Given the description of an element on the screen output the (x, y) to click on. 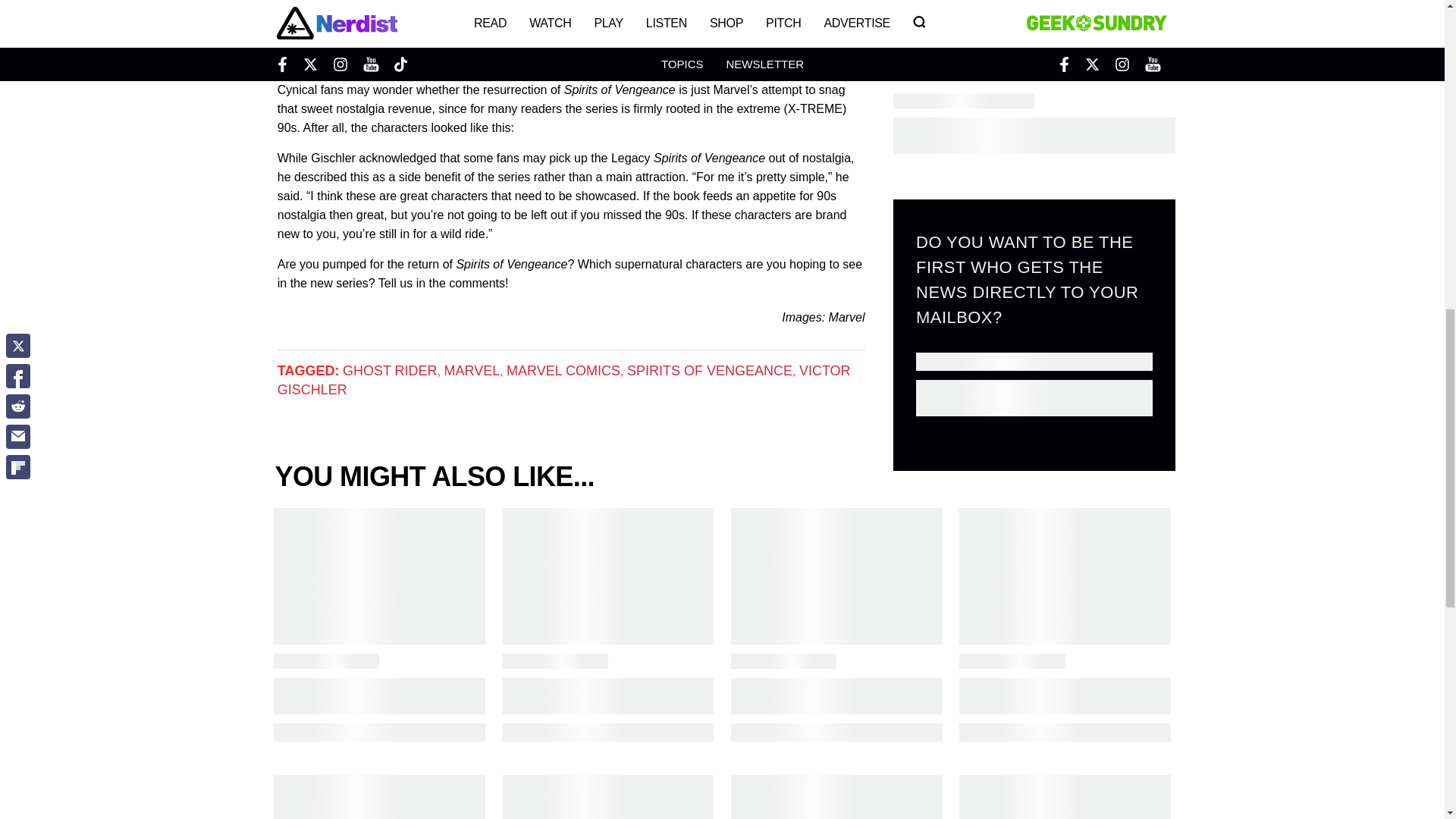
SPIRITS OF VENGEANCE (709, 370)
MARVEL COMICS (563, 370)
VICTOR GISCHLER (564, 380)
GHOST RIDER (390, 370)
MARVEL (471, 370)
